Given the description of an element on the screen output the (x, y) to click on. 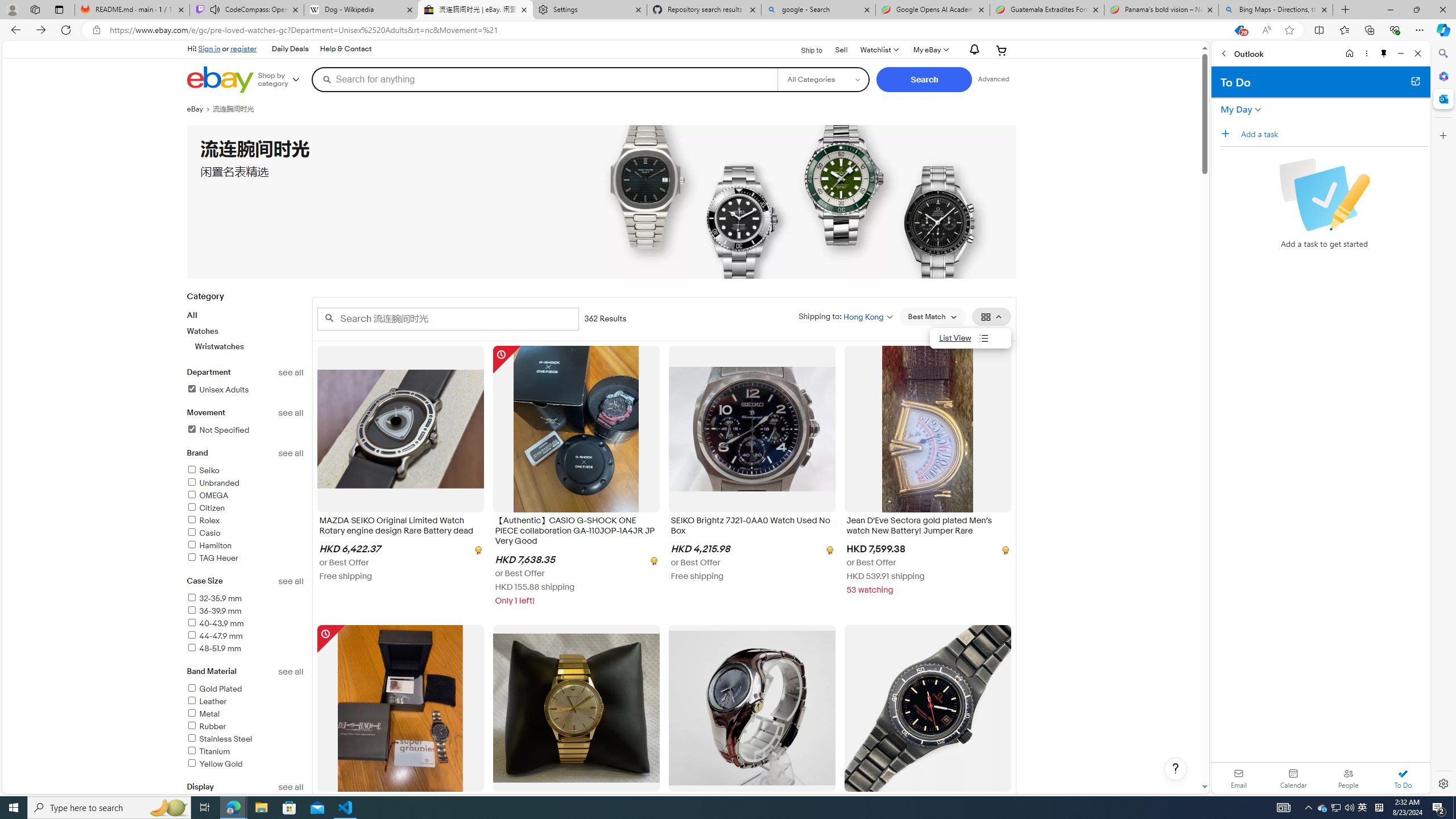
People (1347, 777)
Daily Deals (289, 49)
Rubber (205, 726)
Sell (841, 49)
Help & Contact (345, 49)
44-47.9 mm (245, 636)
Enter your search keyword (448, 318)
Rubber (245, 726)
Forward (40, 29)
Yellow Gold (245, 764)
